Given the description of an element on the screen output the (x, y) to click on. 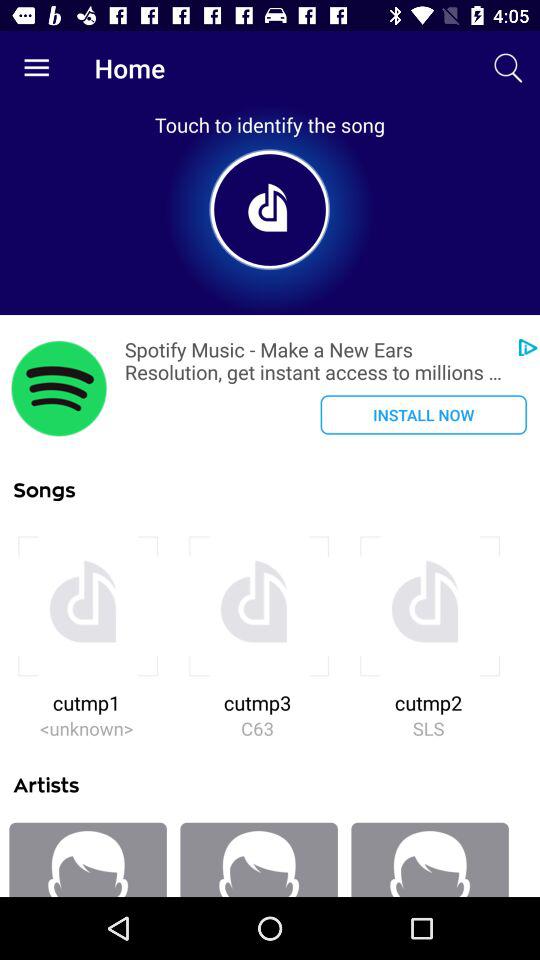
select icon next to the spotify music make icon (59, 388)
